Given the description of an element on the screen output the (x, y) to click on. 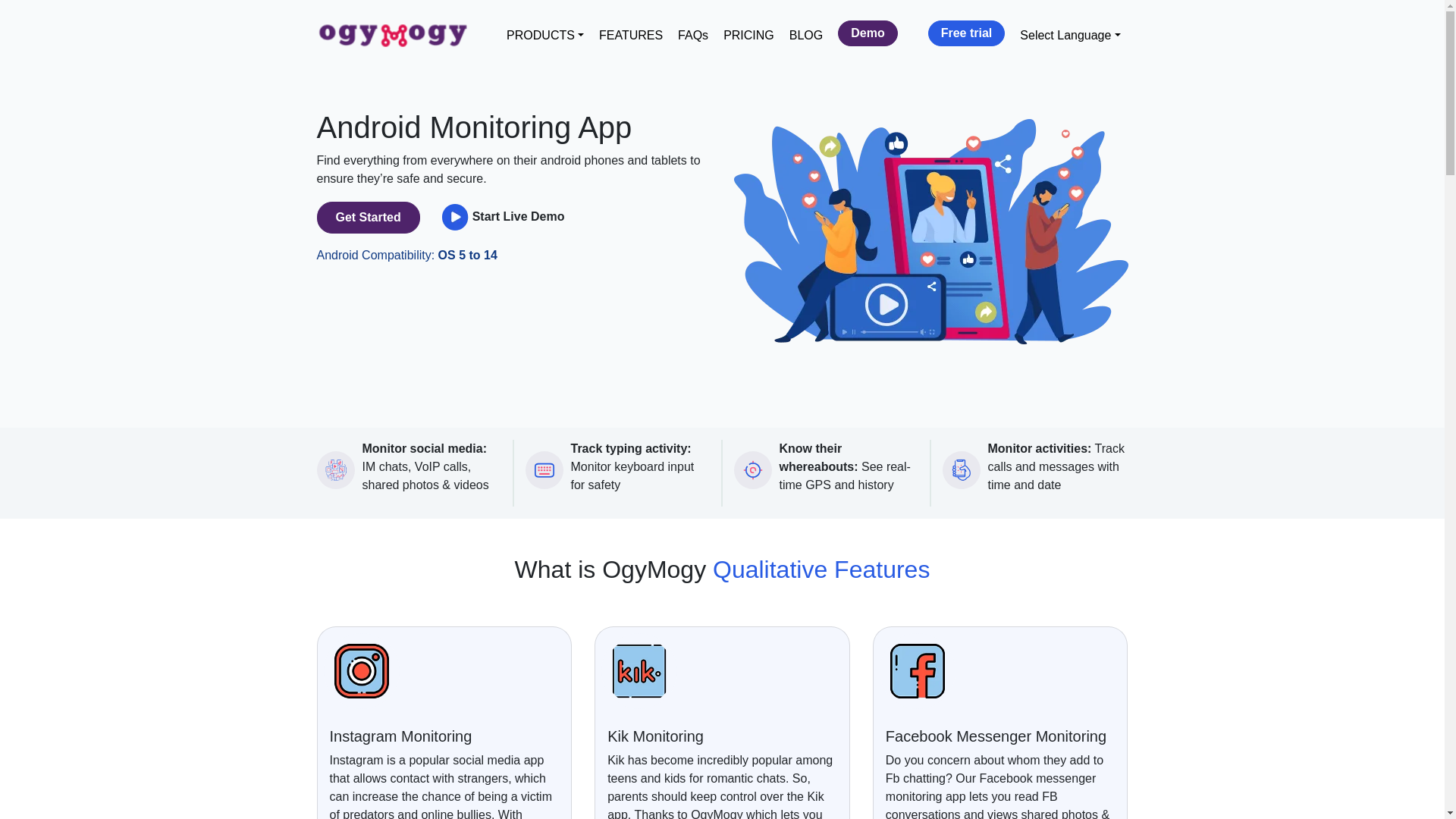
Instagram Monitoring (360, 671)
BLOG (805, 35)
FEATURES (630, 35)
Select Language (1069, 35)
PRODUCTS (544, 35)
Free trial (967, 32)
PRICING (748, 35)
Demo (867, 32)
Android Monitoring App (930, 231)
